Given the description of an element on the screen output the (x, y) to click on. 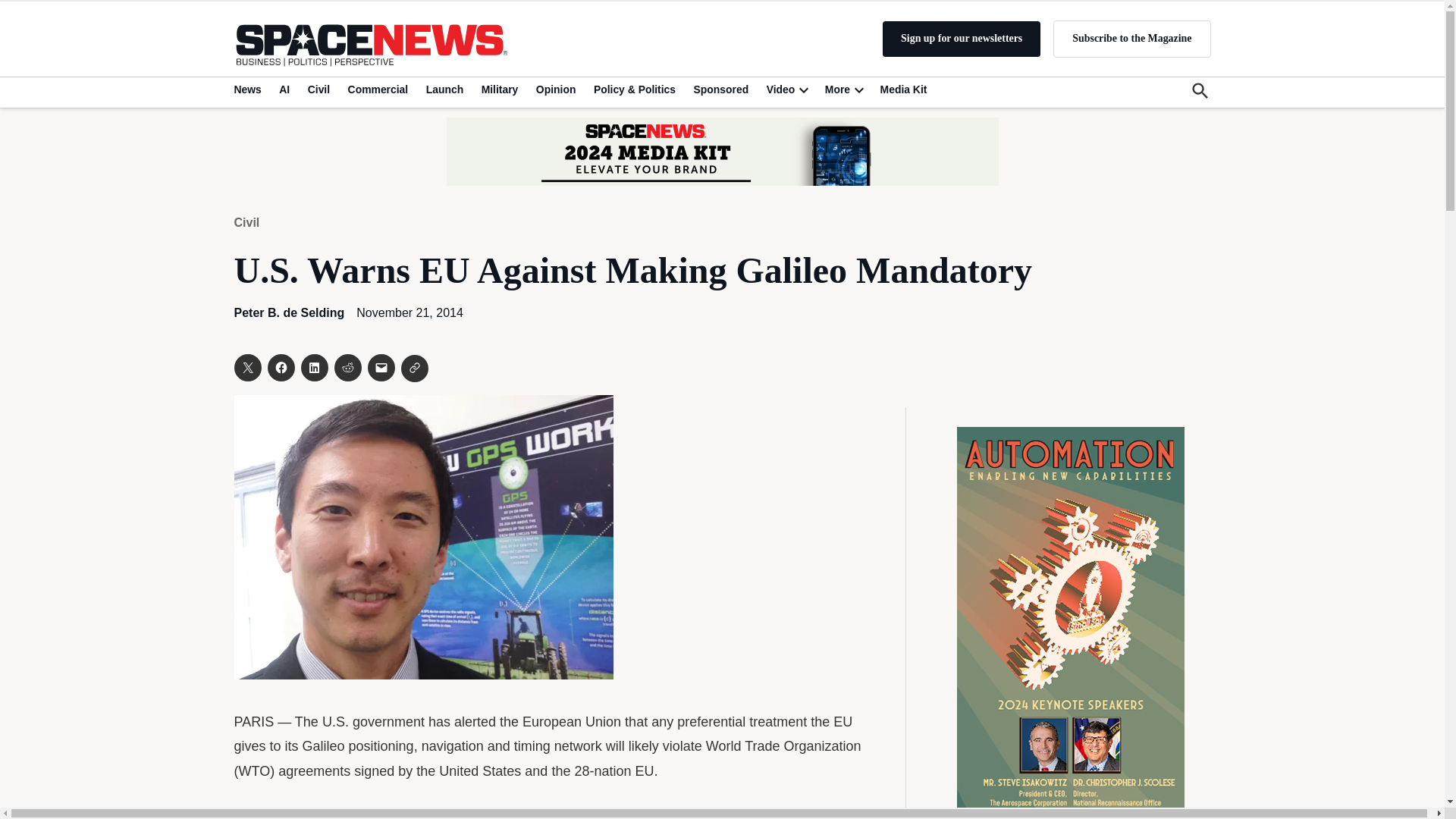
Click to share on Facebook (280, 367)
Click to share on Reddit (347, 367)
Click to share on Clipboard (414, 368)
News (249, 89)
Click to share on X (246, 367)
Civil (318, 89)
Subscribe to the Magazine (1130, 38)
Sign up for our newsletters (961, 38)
AI (284, 89)
Click to email a link to a friend (380, 367)
Click to share on LinkedIn (313, 367)
